Given the description of an element on the screen output the (x, y) to click on. 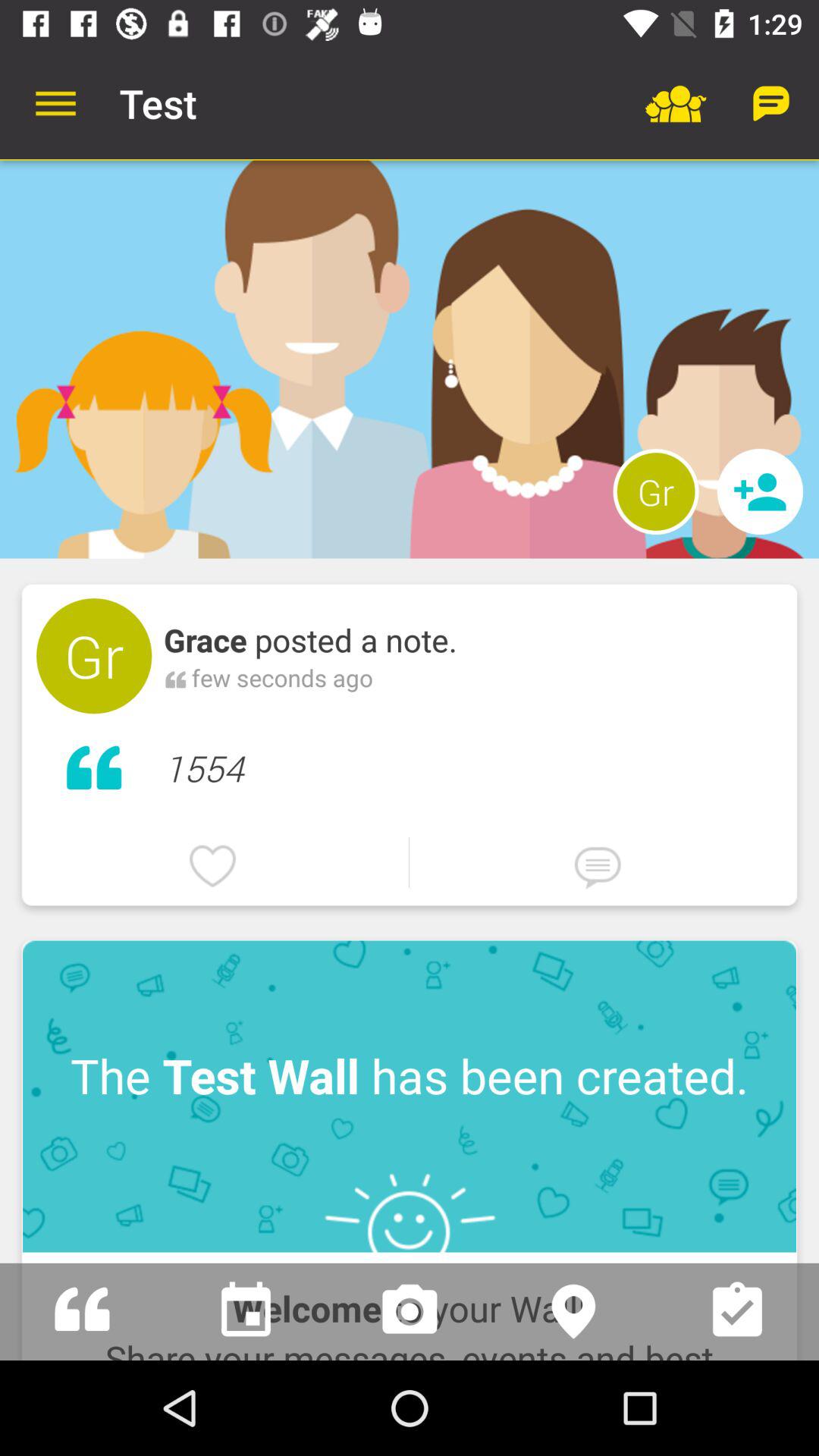
flip until 1554 (472, 764)
